Given the description of an element on the screen output the (x, y) to click on. 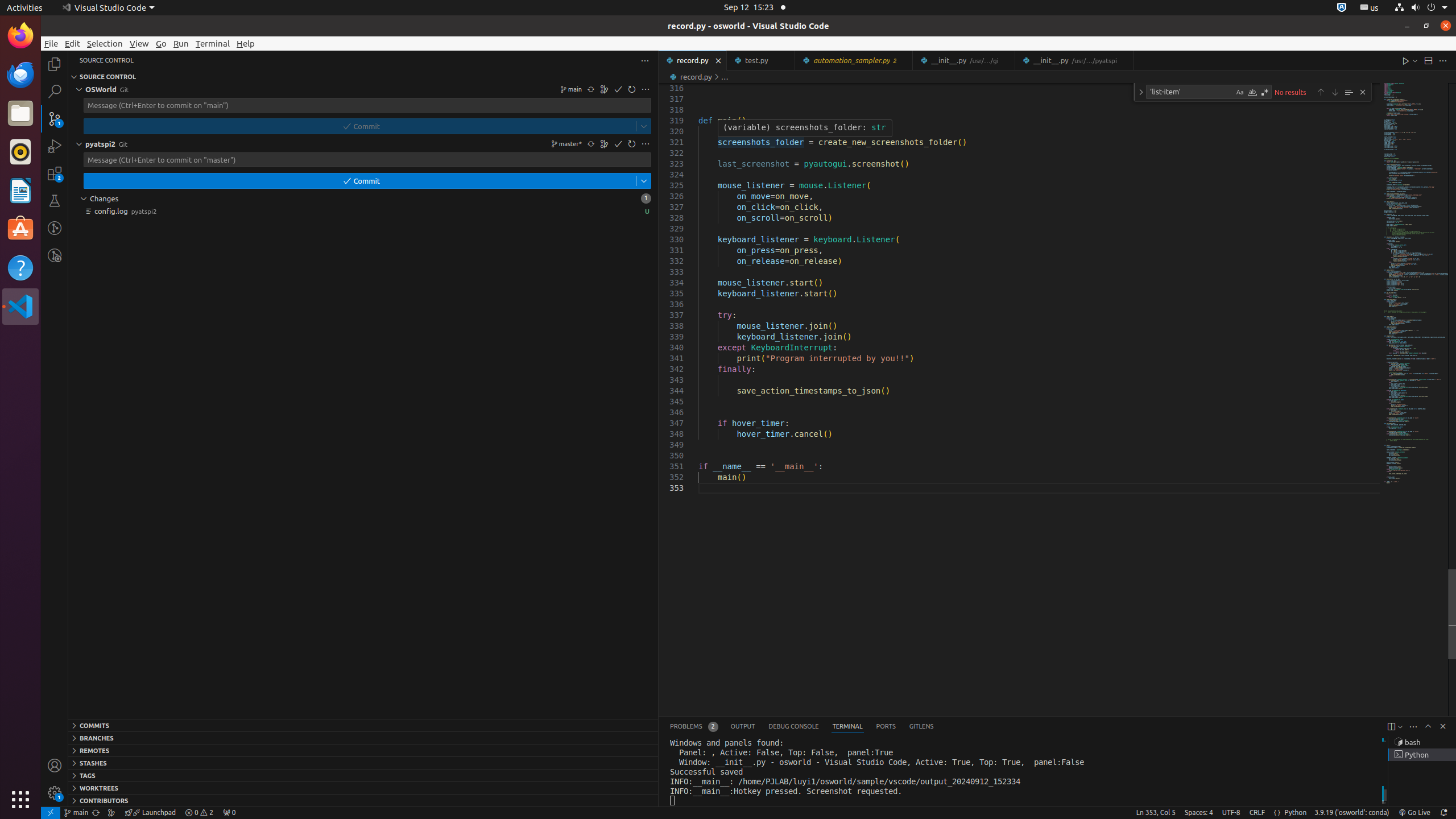
Run and Debug (Ctrl+Shift+D) Element type: page-tab (54, 145)
Show the GitLens Commit Graph Element type: push-button (111, 812)
Next Match (Enter) Element type: push-button (1334, 91)
Terminal 5 Python Element type: list-item (1422, 754)
Terminal Element type: push-button (212, 43)
